Given the description of an element on the screen output the (x, y) to click on. 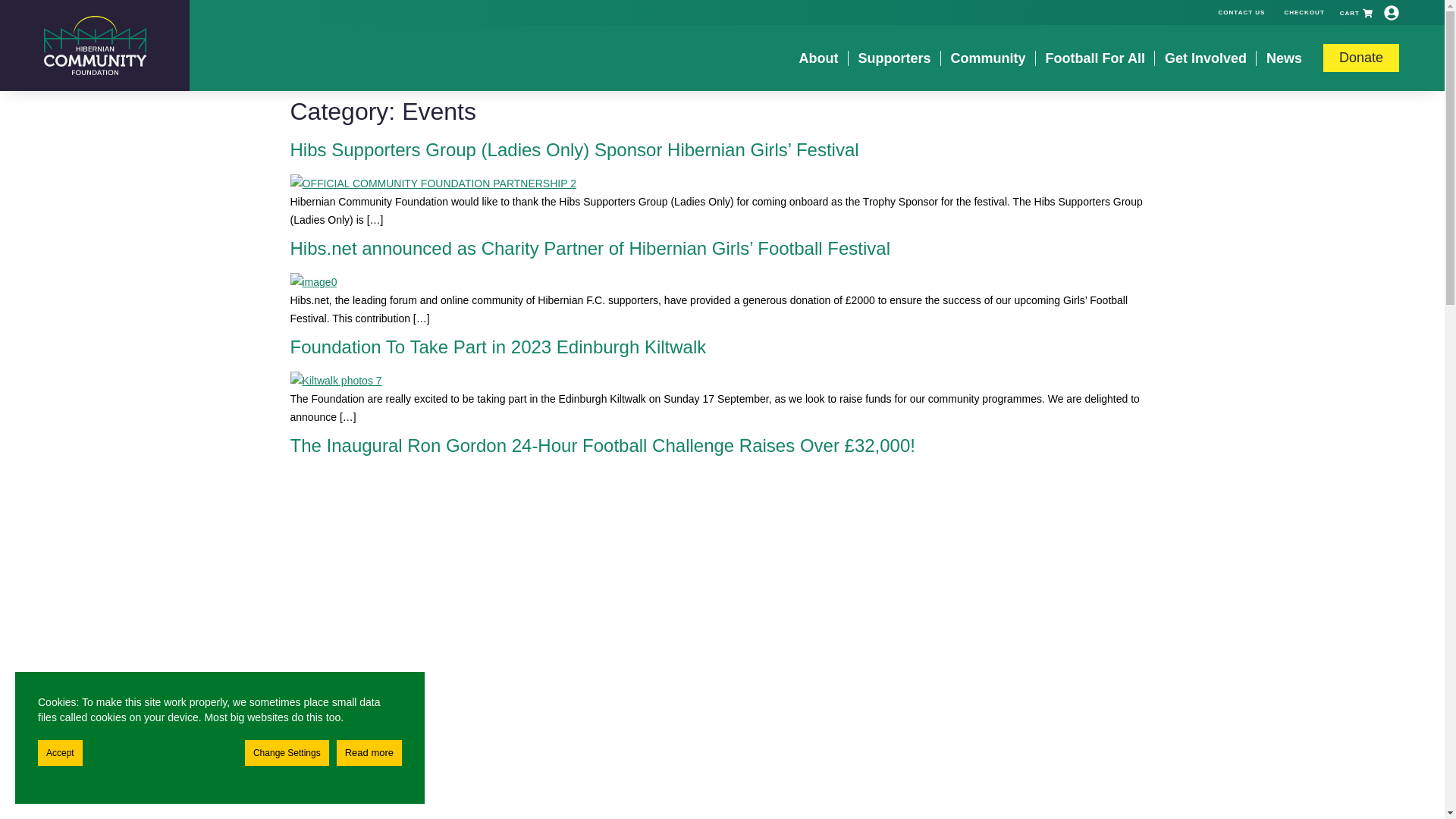
Foundation To Take Part in 2023 Edinburgh Kiltwalk 4 (335, 380)
Supporters (895, 57)
CONTACT US (1241, 11)
View your shopping cart (1356, 13)
CART (1356, 13)
CHECKOUT (1303, 11)
Football For All (1094, 57)
About (818, 57)
Get Involved (1205, 57)
Community (988, 57)
